Given the description of an element on the screen output the (x, y) to click on. 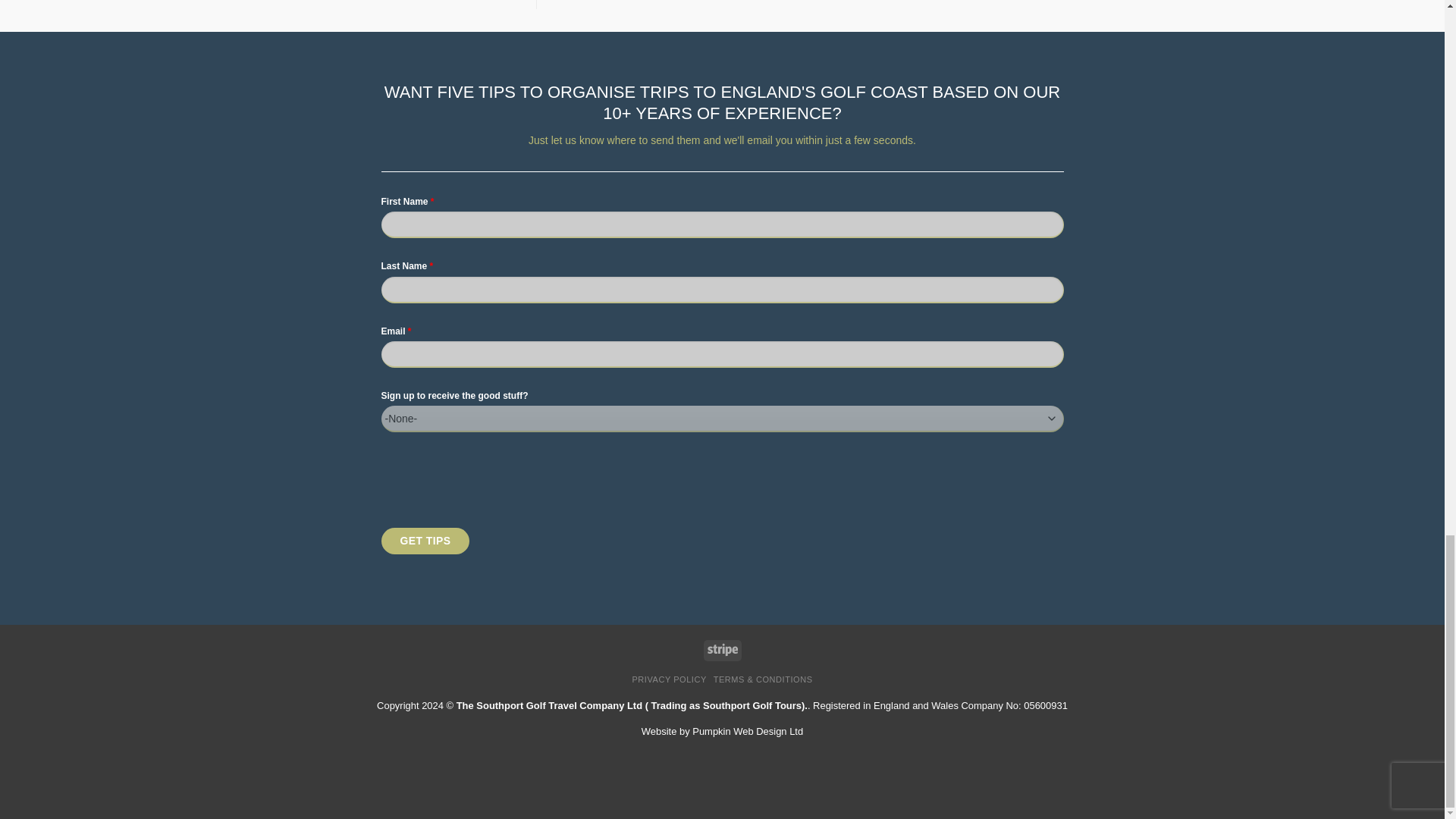
PRIVACY POLICY (668, 678)
Get Tips (424, 540)
Website by Pumpkin Web Design Ltd (722, 731)
Get Tips (424, 540)
Get Tips (424, 540)
reCAPTCHA (495, 473)
